Given the description of an element on the screen output the (x, y) to click on. 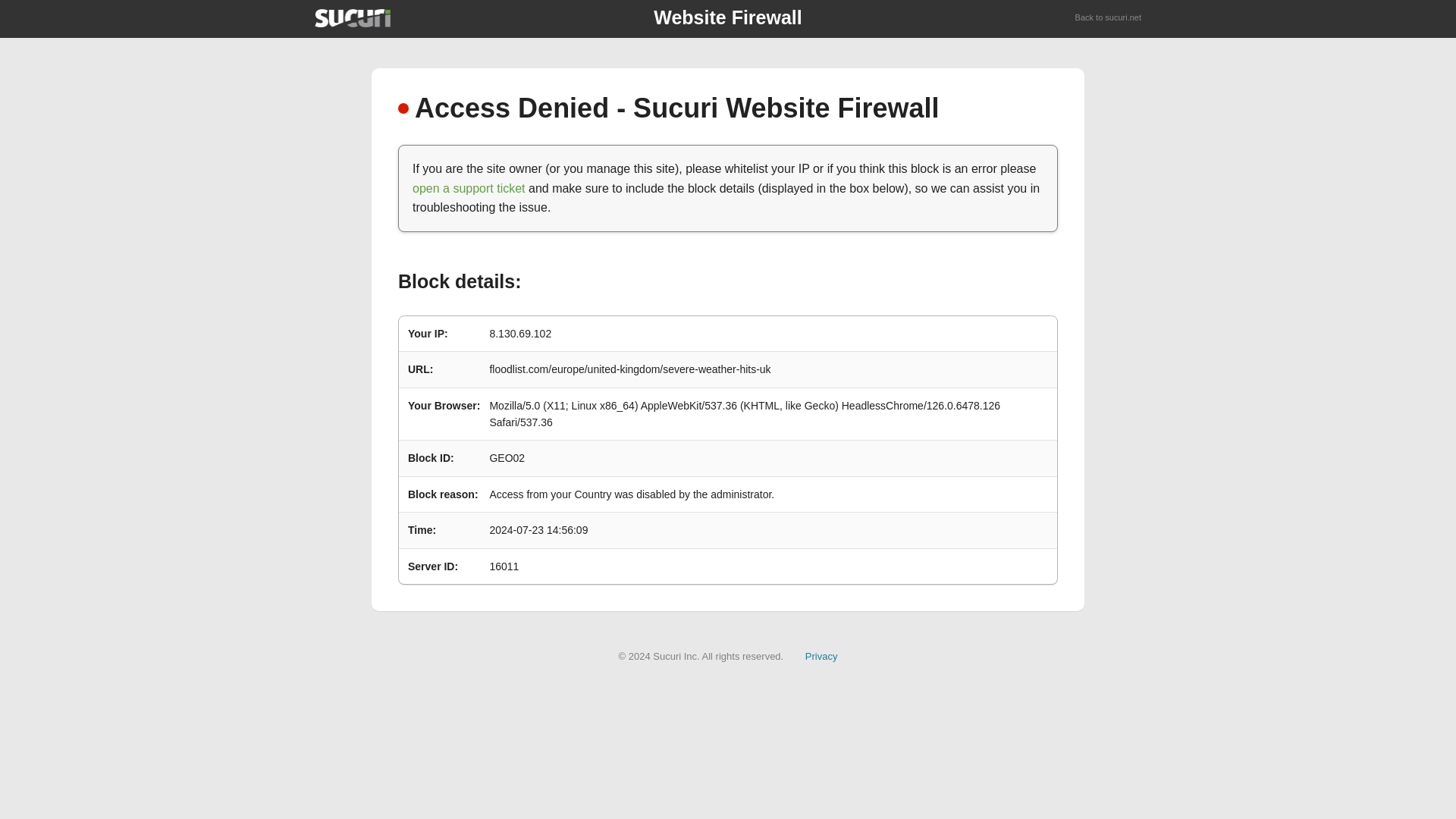
Privacy (821, 655)
Back to sucuri.net (1108, 18)
open a support ticket (468, 187)
